Given the description of an element on the screen output the (x, y) to click on. 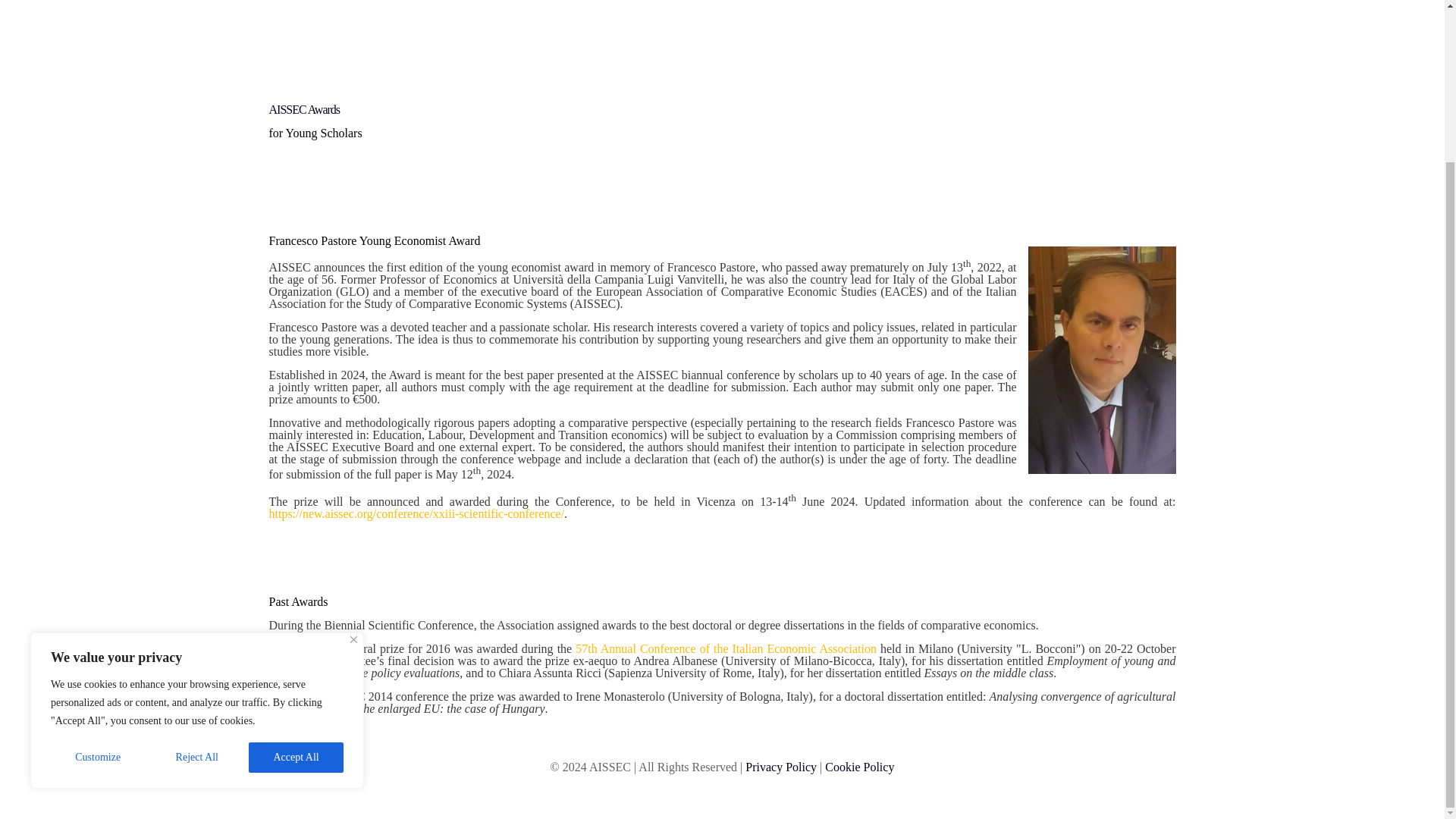
Accept All (295, 565)
Reject All (197, 565)
Customize (97, 565)
